Given the description of an element on the screen output the (x, y) to click on. 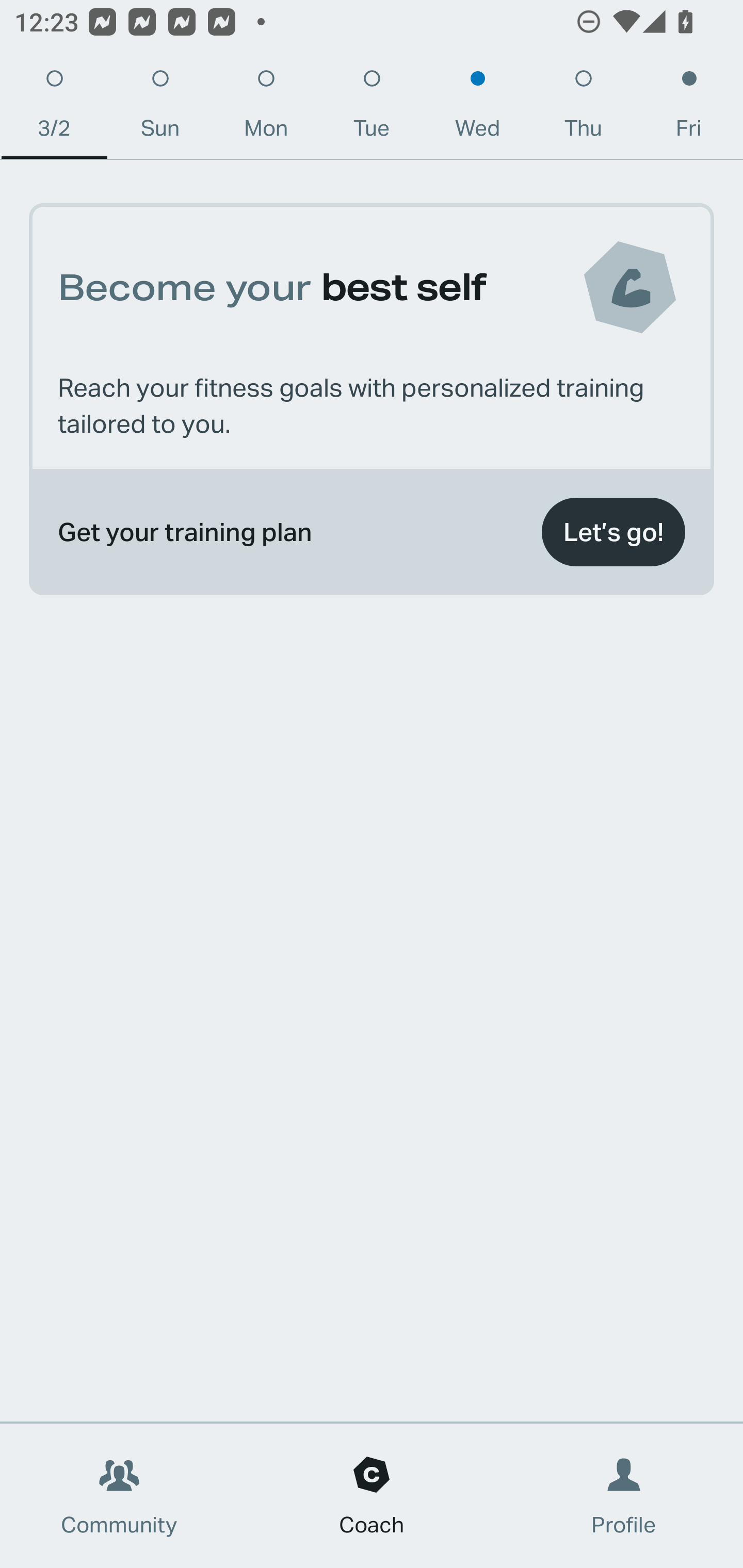
3/2 (53, 108)
Sun (159, 108)
Mon (265, 108)
Tue (371, 108)
Wed (477, 108)
Thu (583, 108)
Fri (689, 108)
Let’s go! (613, 532)
Community (119, 1495)
Profile (624, 1495)
